Given the description of an element on the screen output the (x, y) to click on. 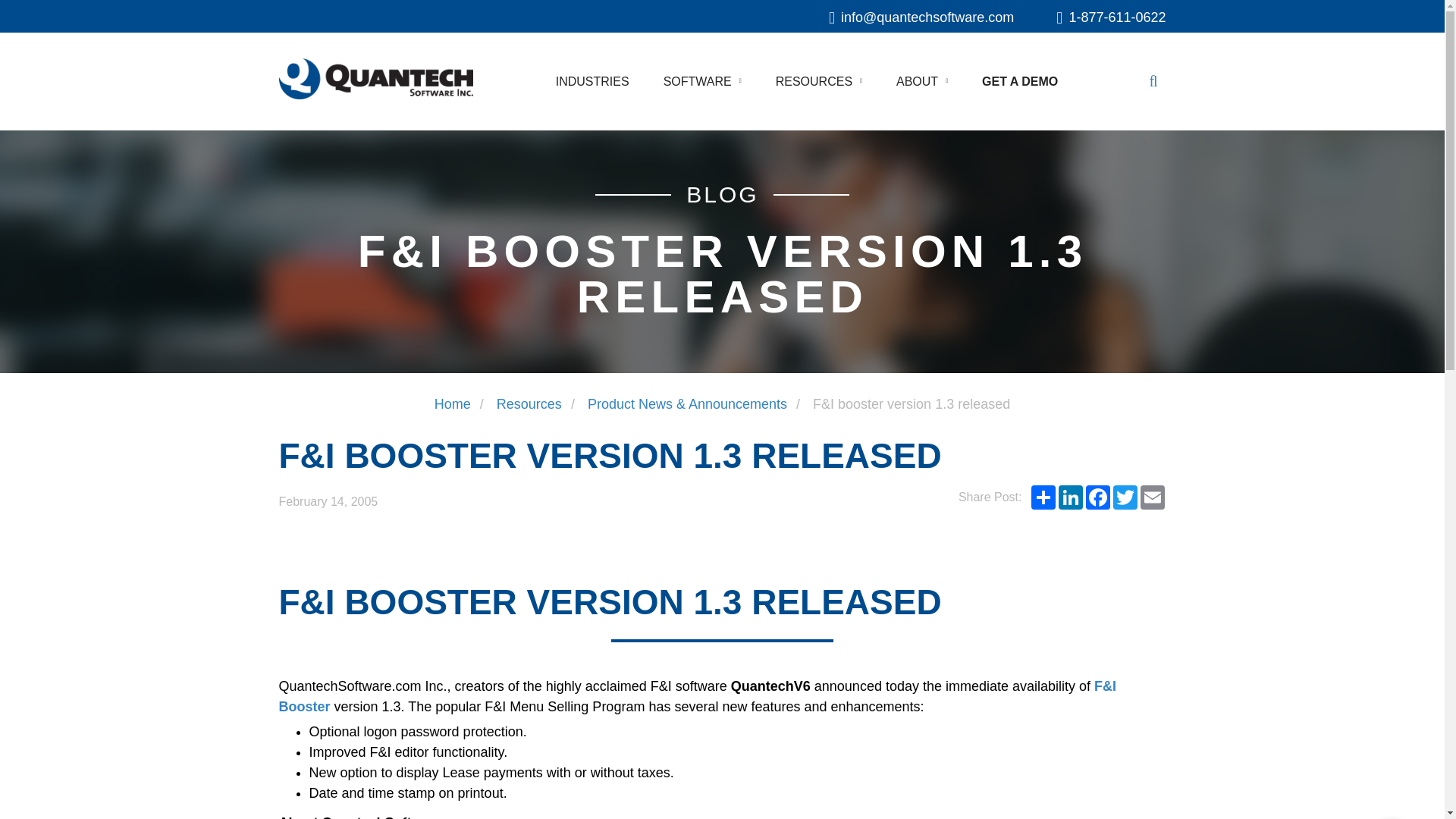
Email (1152, 497)
Share (1043, 497)
SOFTWARE (697, 81)
INDUSTRIES (592, 81)
Resources (529, 403)
RESOURCES (813, 81)
ABOUT (916, 81)
Facebook (1098, 497)
1-877-611-0622 (1111, 17)
GET A DEMO (1019, 81)
LinkedIn (1070, 497)
Twitter (1125, 497)
Home (451, 403)
